Given the description of an element on the screen output the (x, y) to click on. 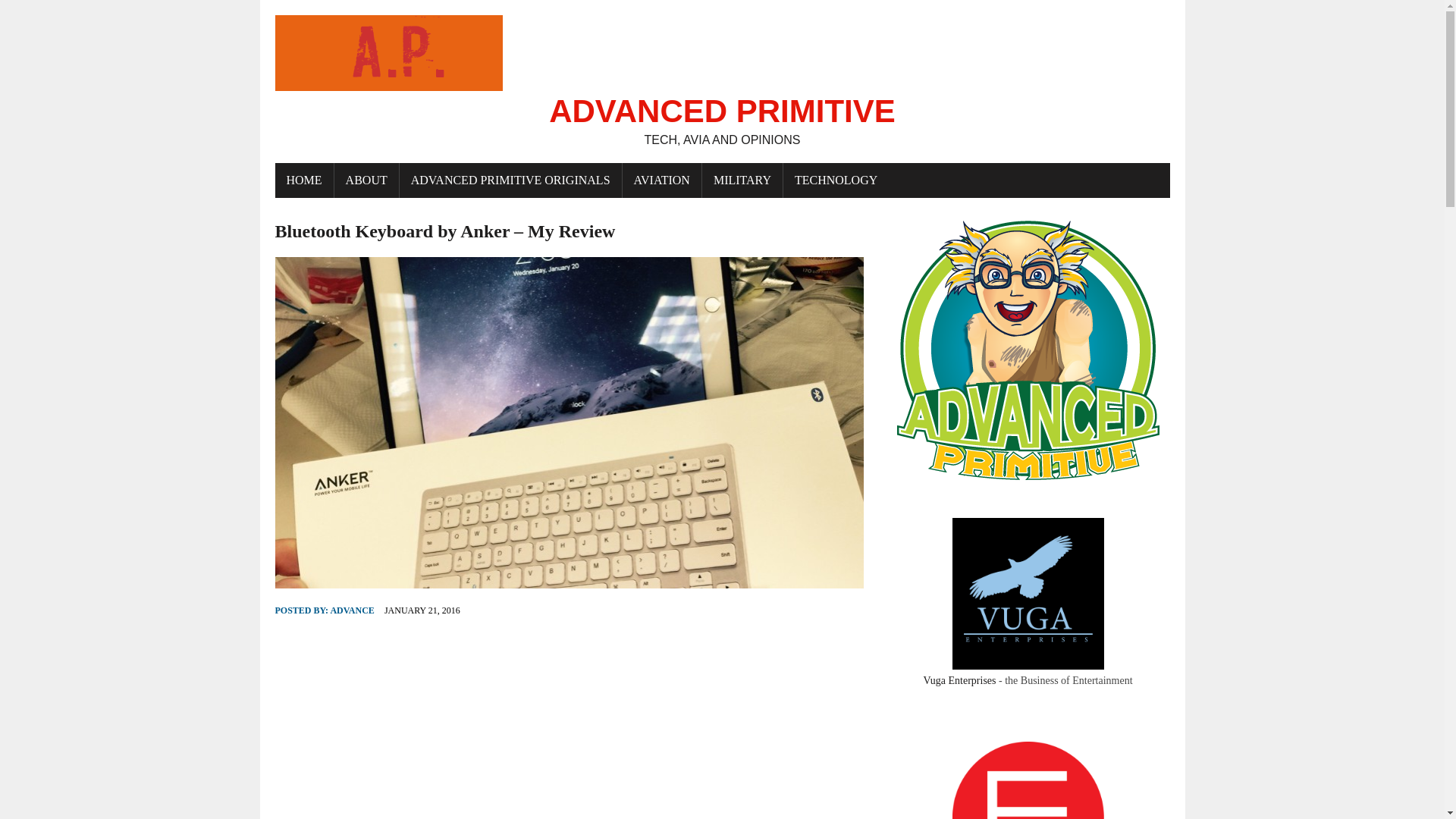
HOME (304, 180)
Advanced Primitive (722, 81)
ADVANCED PRIMITIVE ORIGINALS (509, 180)
TECHNOLOGY (722, 81)
AVIATION (835, 180)
MILITARY (662, 180)
Advertisement (742, 180)
ADVANCE (388, 716)
ABOUT (352, 610)
